Given the description of an element on the screen output the (x, y) to click on. 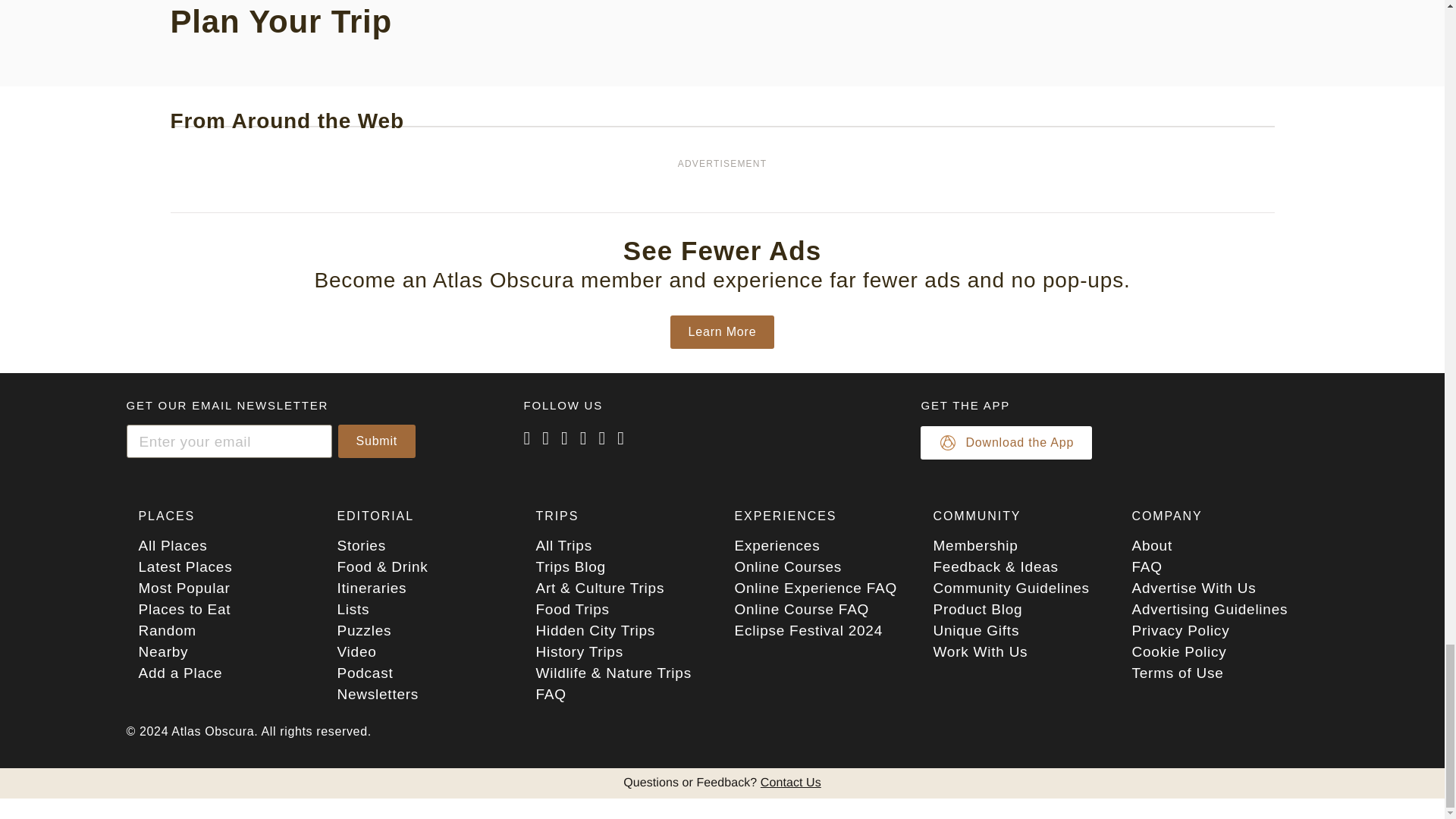
Submit (376, 441)
